Given the description of an element on the screen output the (x, y) to click on. 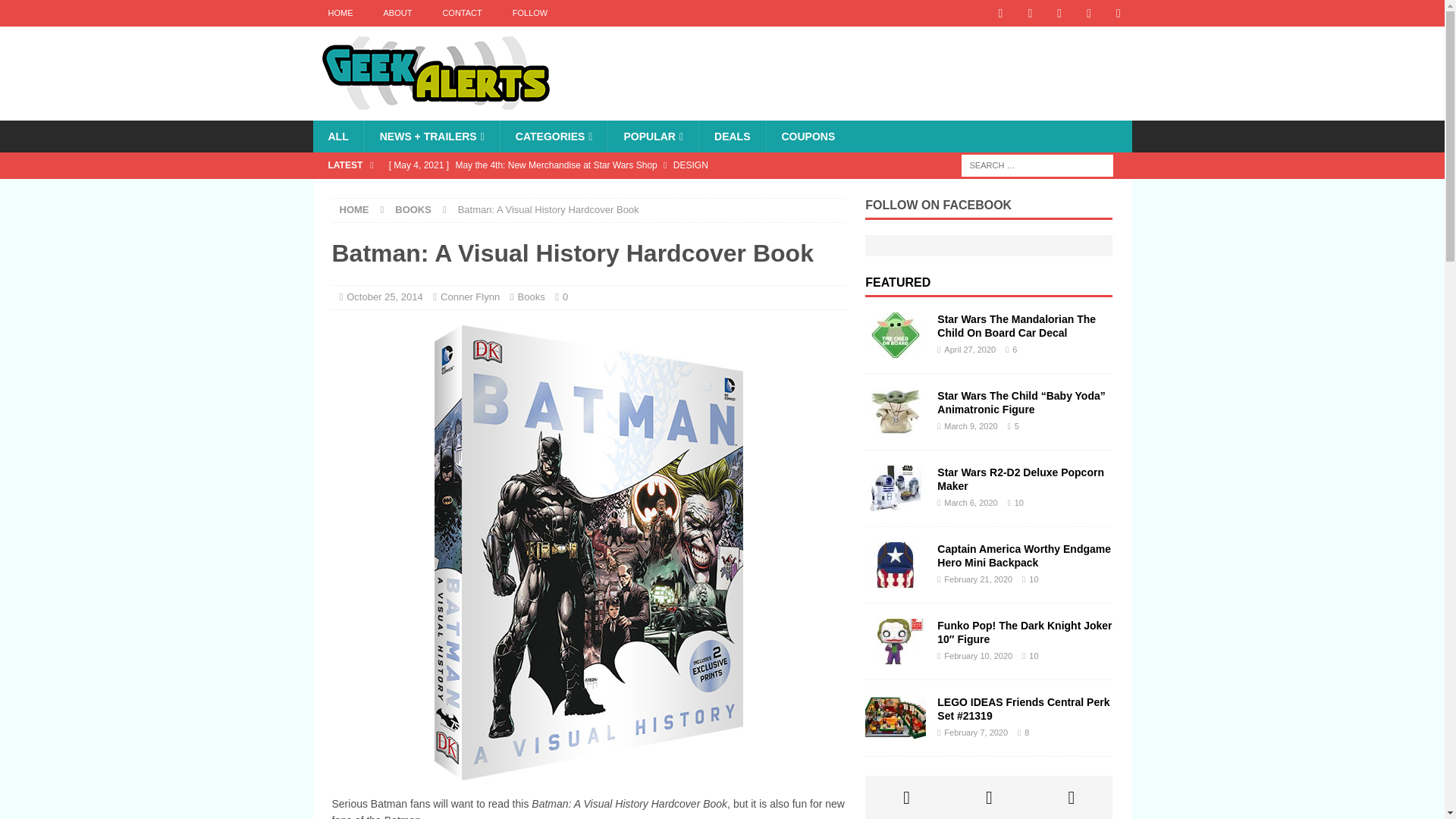
COUPONS (807, 136)
HOME (340, 13)
ABOUT (398, 13)
FOLLOW (529, 13)
May the 4th: New Merchandise at Star Wars Shop (612, 165)
CONTACT (461, 13)
HOME (354, 209)
CATEGORIES (553, 136)
DEALS (731, 136)
Search (56, 11)
Rick and Morty Get Shwifty Bluetooth Speaker (612, 190)
POPULAR (652, 136)
ALL (337, 136)
